Given the description of an element on the screen output the (x, y) to click on. 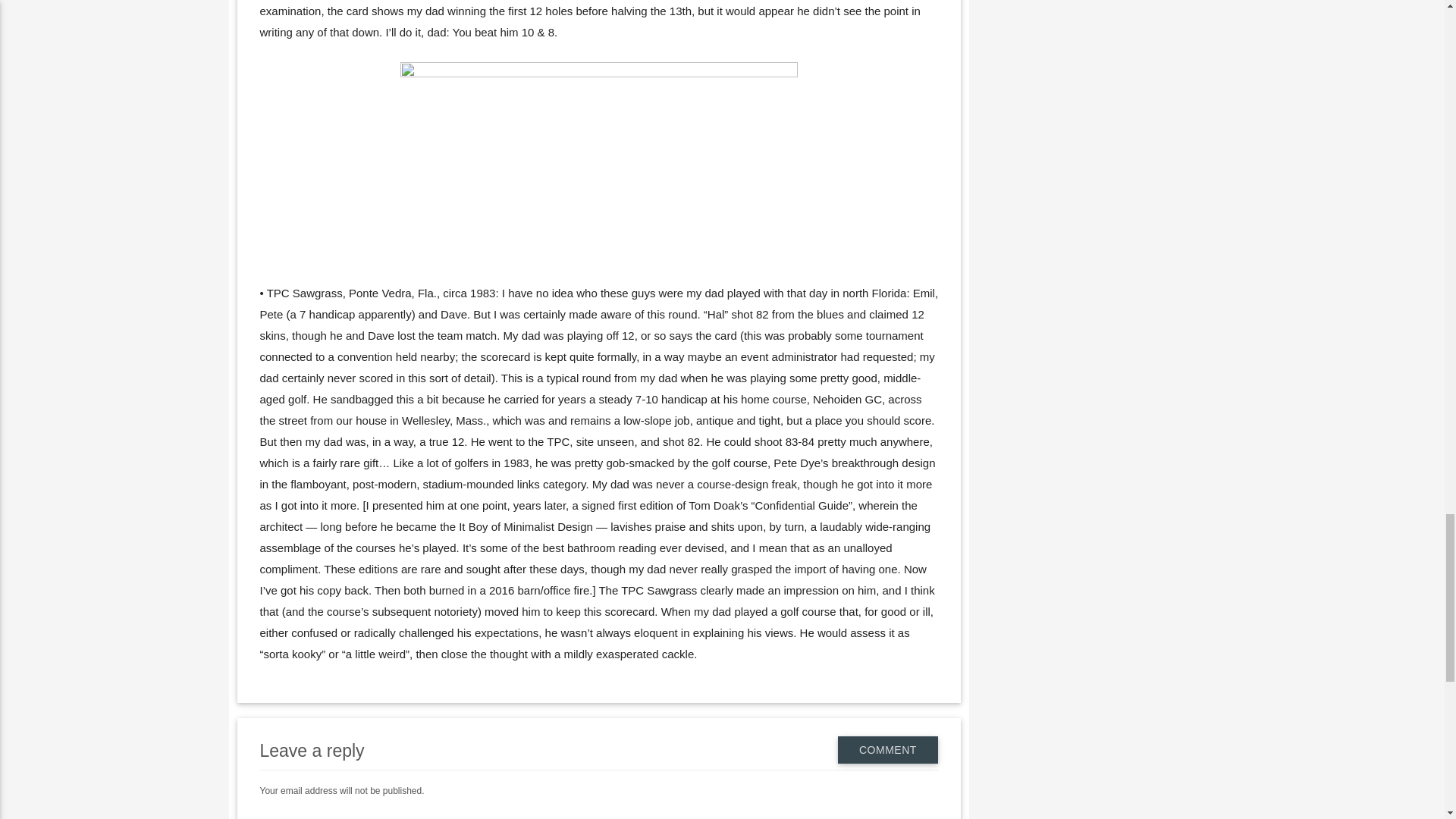
COMMENT (887, 749)
